Given the description of an element on the screen output the (x, y) to click on. 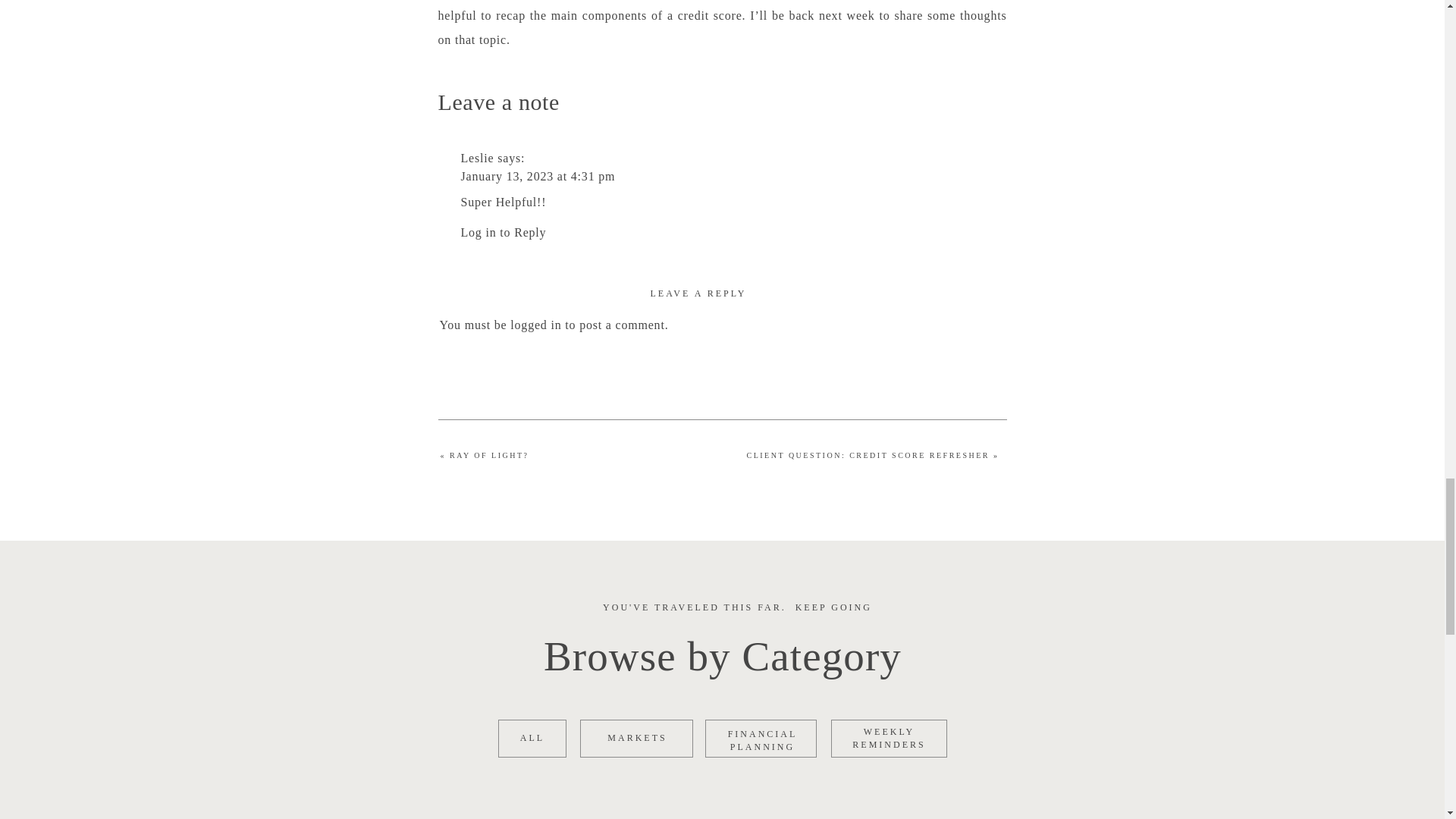
MARKETS (637, 736)
RAY OF LIGHT? (489, 455)
YOU'VE TRAVELED THIS FAR.  KEEP GOING (737, 606)
CLIENT QUESTION: CREDIT SCORE REFRESHER (868, 455)
Log in to Reply (504, 232)
January 13, 2023 at 4:31 pm (538, 175)
ALL (532, 736)
logged in (889, 742)
